Given the description of an element on the screen output the (x, y) to click on. 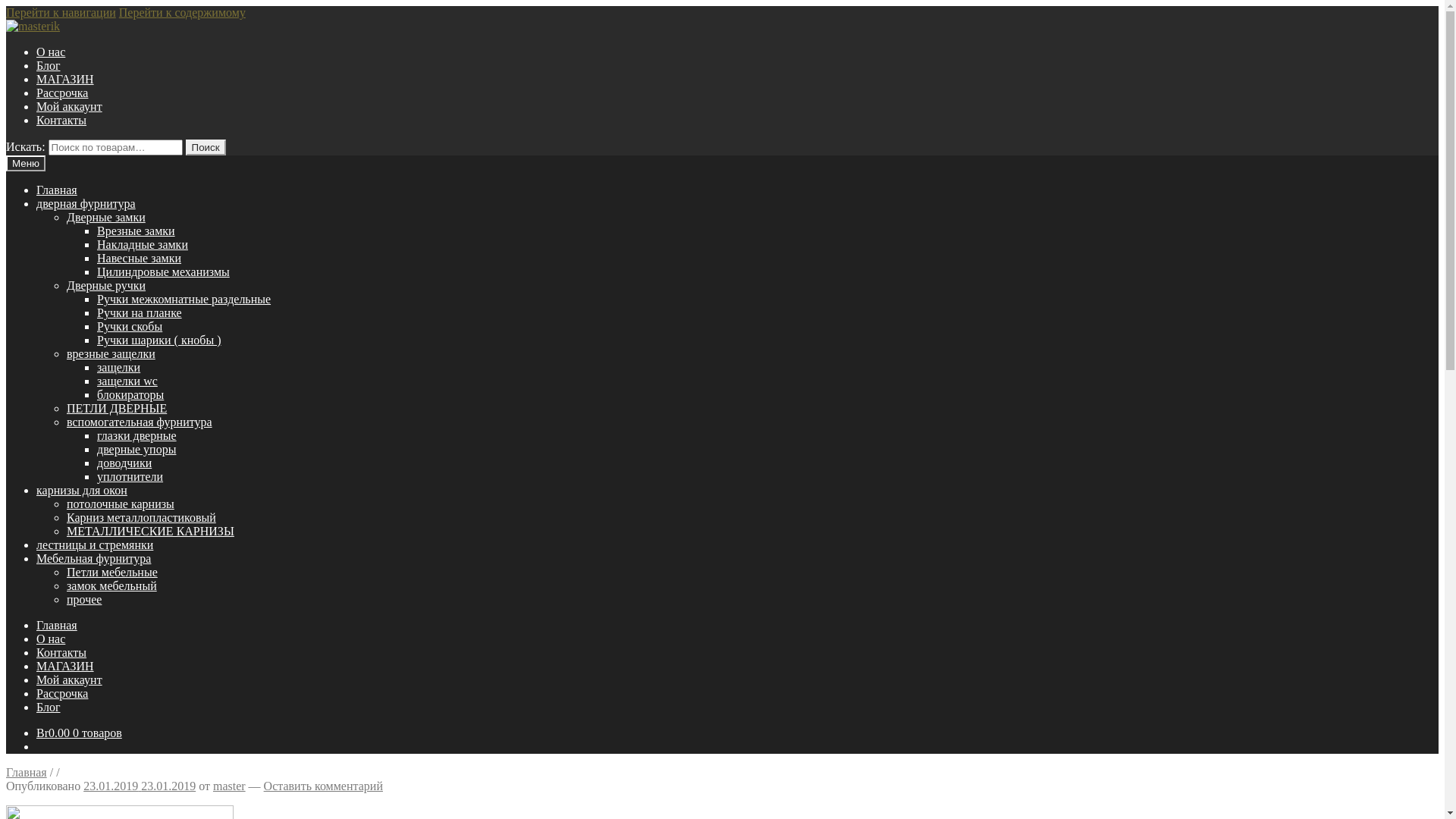
23.01.2019 23.01.2019 Element type: text (139, 785)
master Element type: text (229, 785)
